Given the description of an element on the screen output the (x, y) to click on. 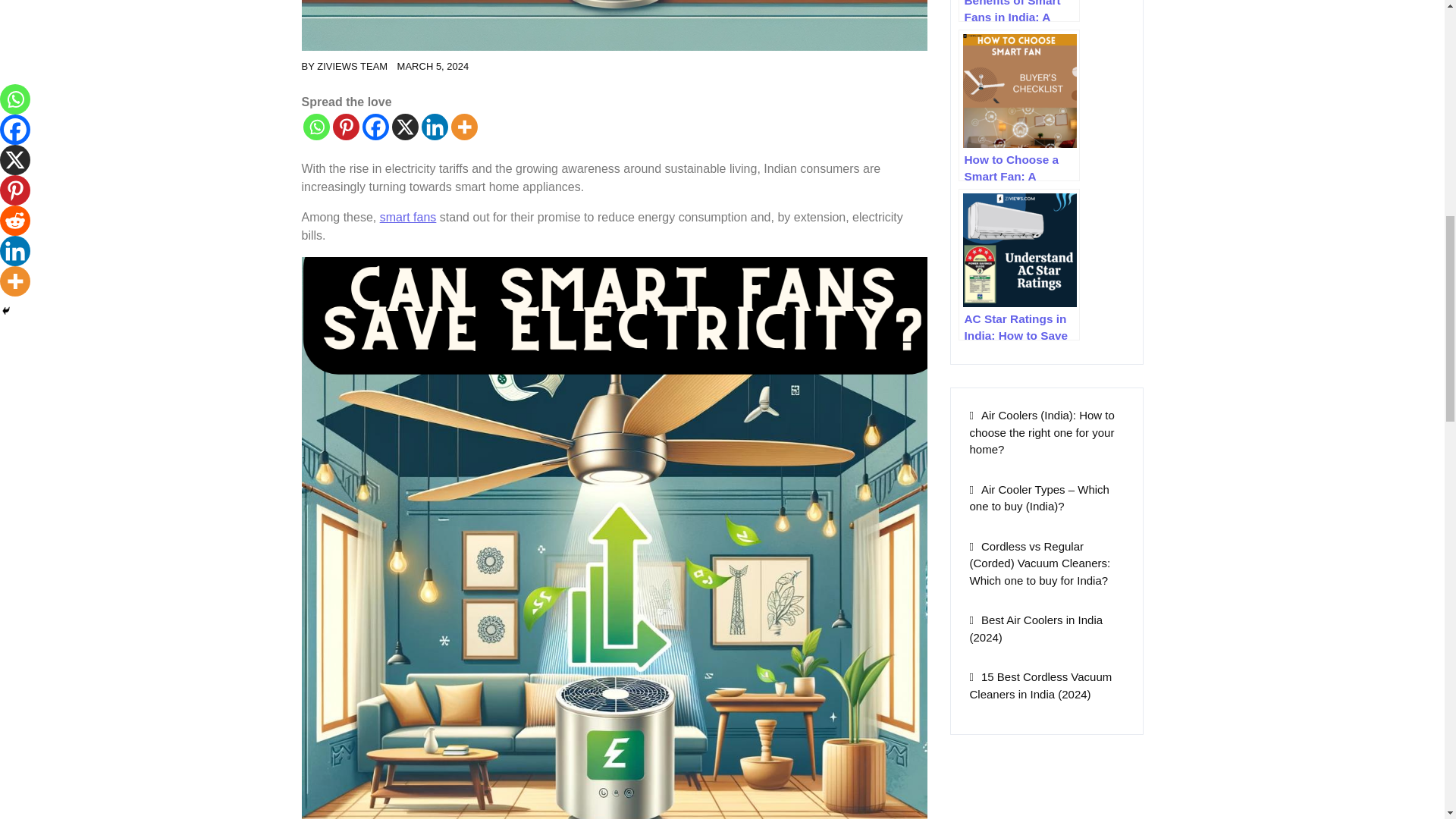
Facebook (375, 126)
X (404, 126)
Linkedin (435, 126)
Pinterest (344, 126)
Whatsapp (316, 126)
More (463, 126)
